Given the description of an element on the screen output the (x, y) to click on. 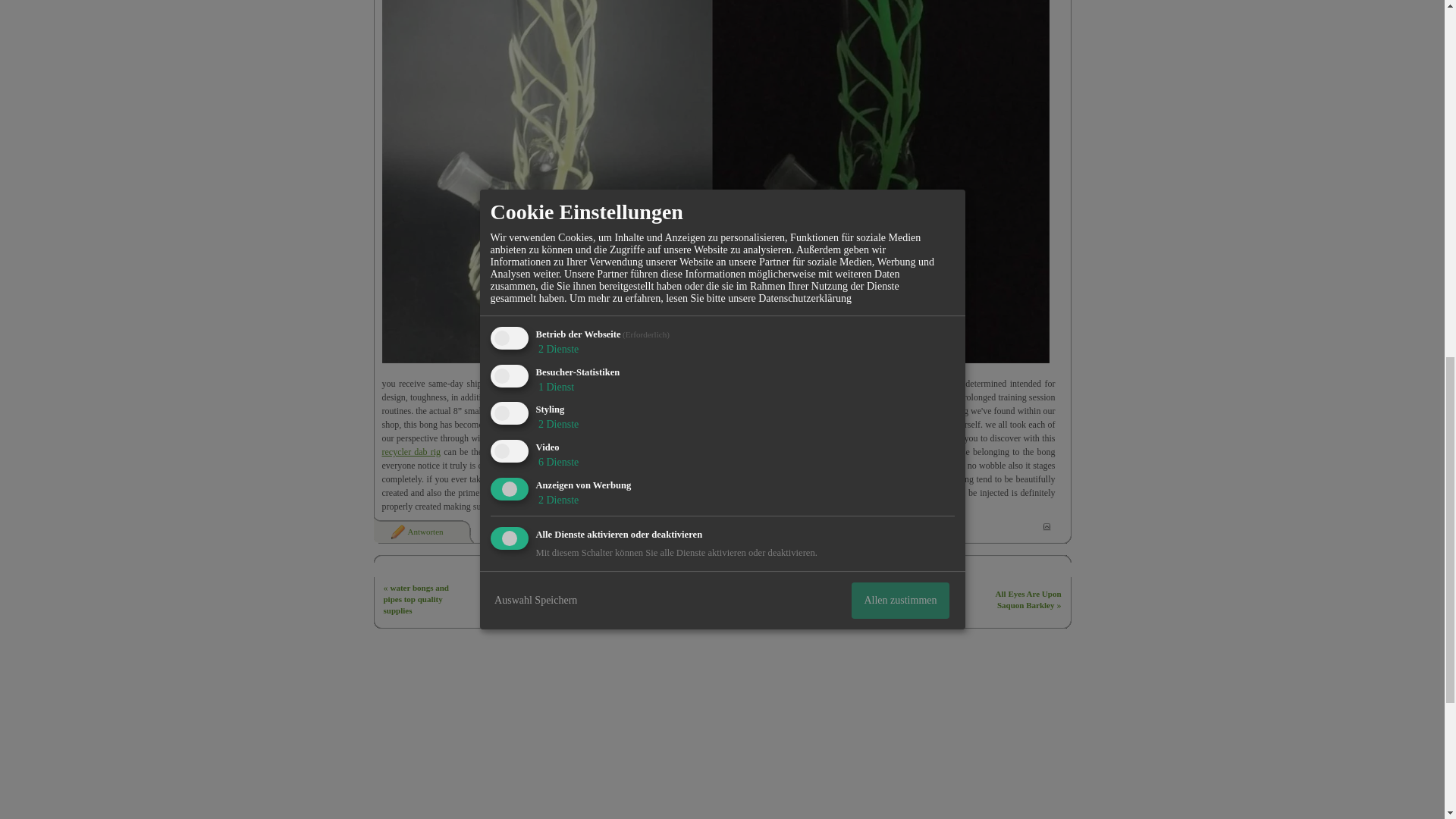
Antworten (416, 531)
nach oben springen (1046, 526)
water pipe (571, 383)
water bongs and pipes top quality supplies (416, 598)
All Eyes Are Upon Saquon Barkley (1028, 599)
recycler dab rig (411, 451)
